Given the description of an element on the screen output the (x, y) to click on. 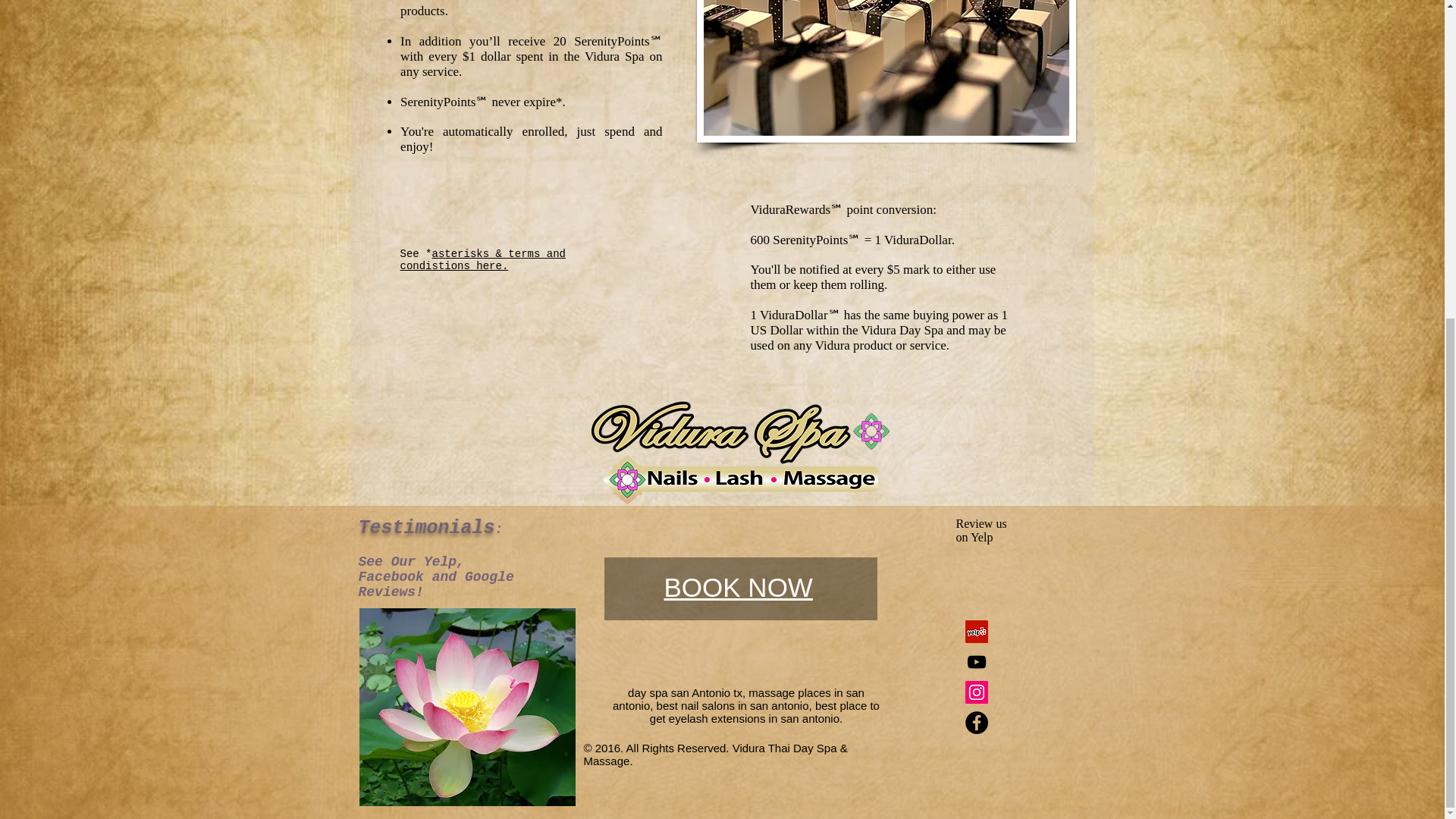
BOOK NOW (737, 586)
